Given the description of an element on the screen output the (x, y) to click on. 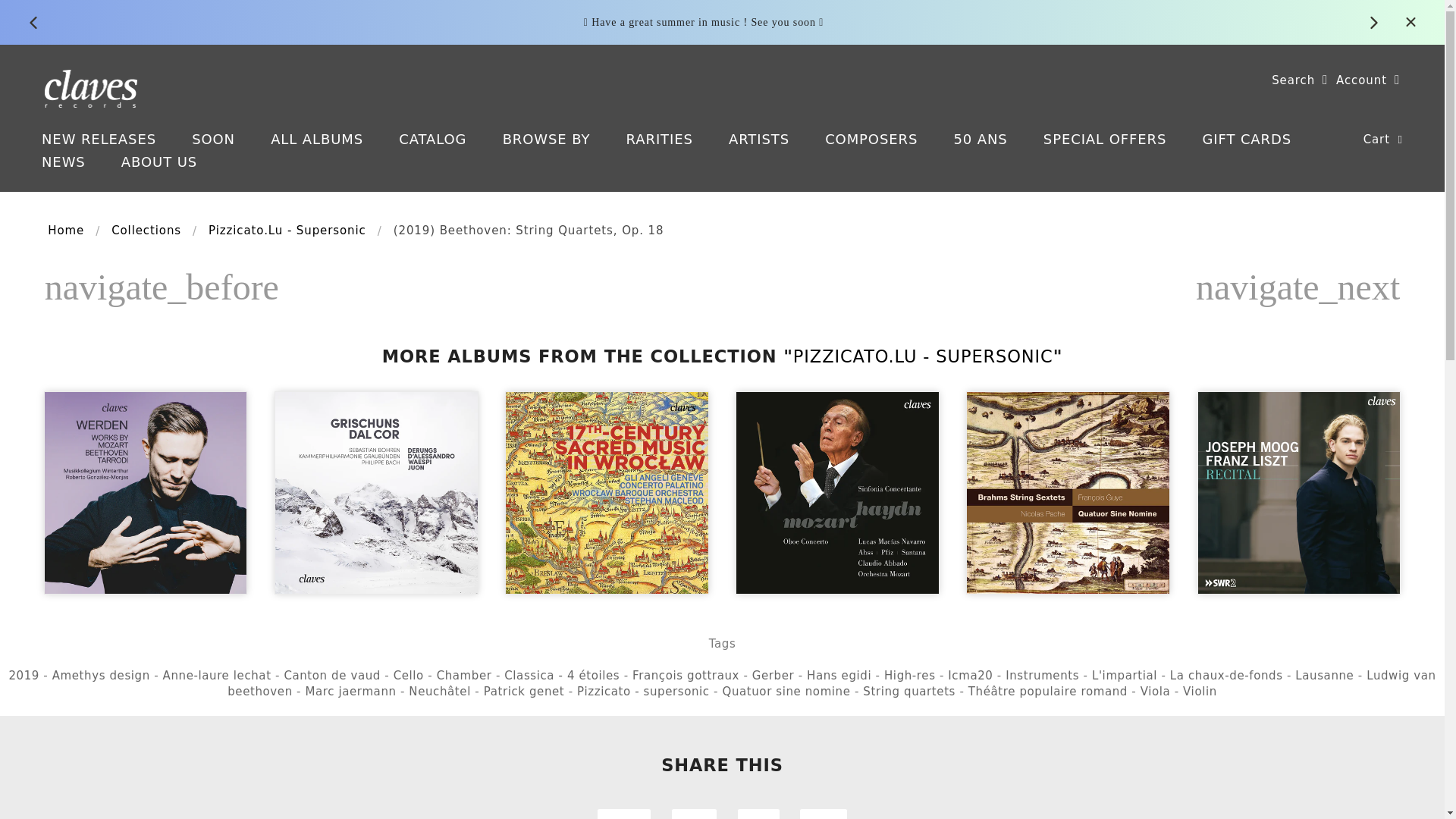
ALL ALBUMS (317, 139)
SOON (213, 139)
Next Product (1297, 287)
Search (1299, 80)
Previous Product (162, 287)
Account (1367, 80)
CATALOG (432, 139)
Claves Records (91, 87)
NEW RELEASES (98, 139)
